Given the description of an element on the screen output the (x, y) to click on. 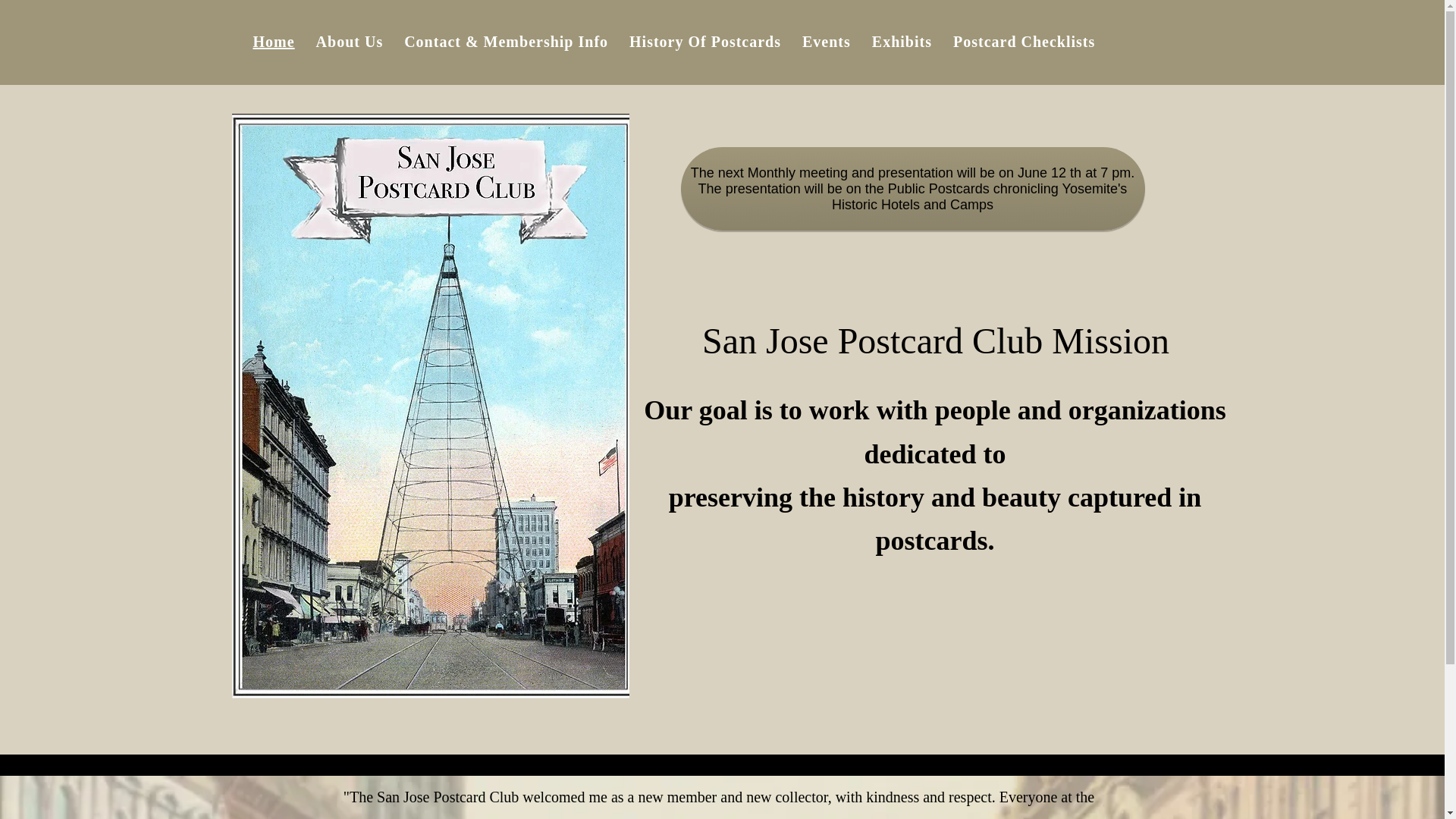
Exhibits (901, 41)
Home (274, 41)
Events (826, 41)
About Us (349, 41)
History Of Postcards (705, 41)
Postcard Checklists (1023, 41)
